Given the description of an element on the screen output the (x, y) to click on. 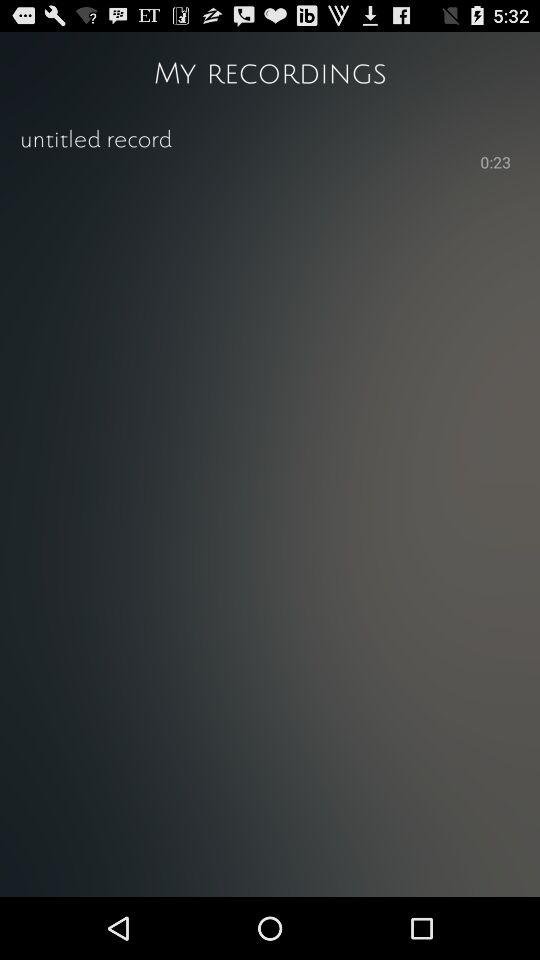
press the icon to the left of 0:23 (248, 161)
